Given the description of an element on the screen output the (x, y) to click on. 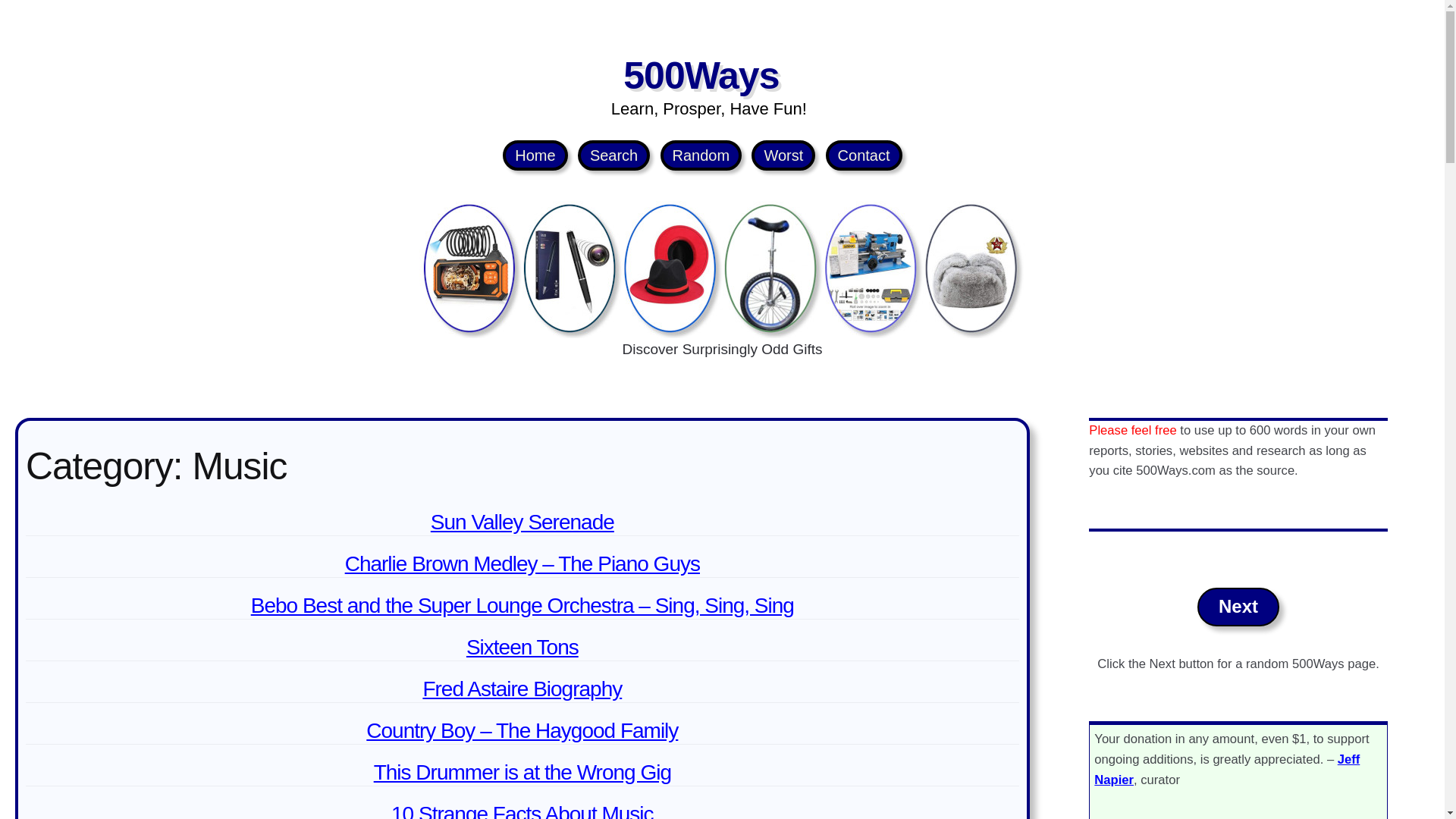
Worst (783, 155)
Search (613, 155)
Contact (863, 155)
Home (534, 155)
Sun Valley Serenade (522, 521)
500Ways (700, 75)
Random (701, 155)
